Given the description of an element on the screen output the (x, y) to click on. 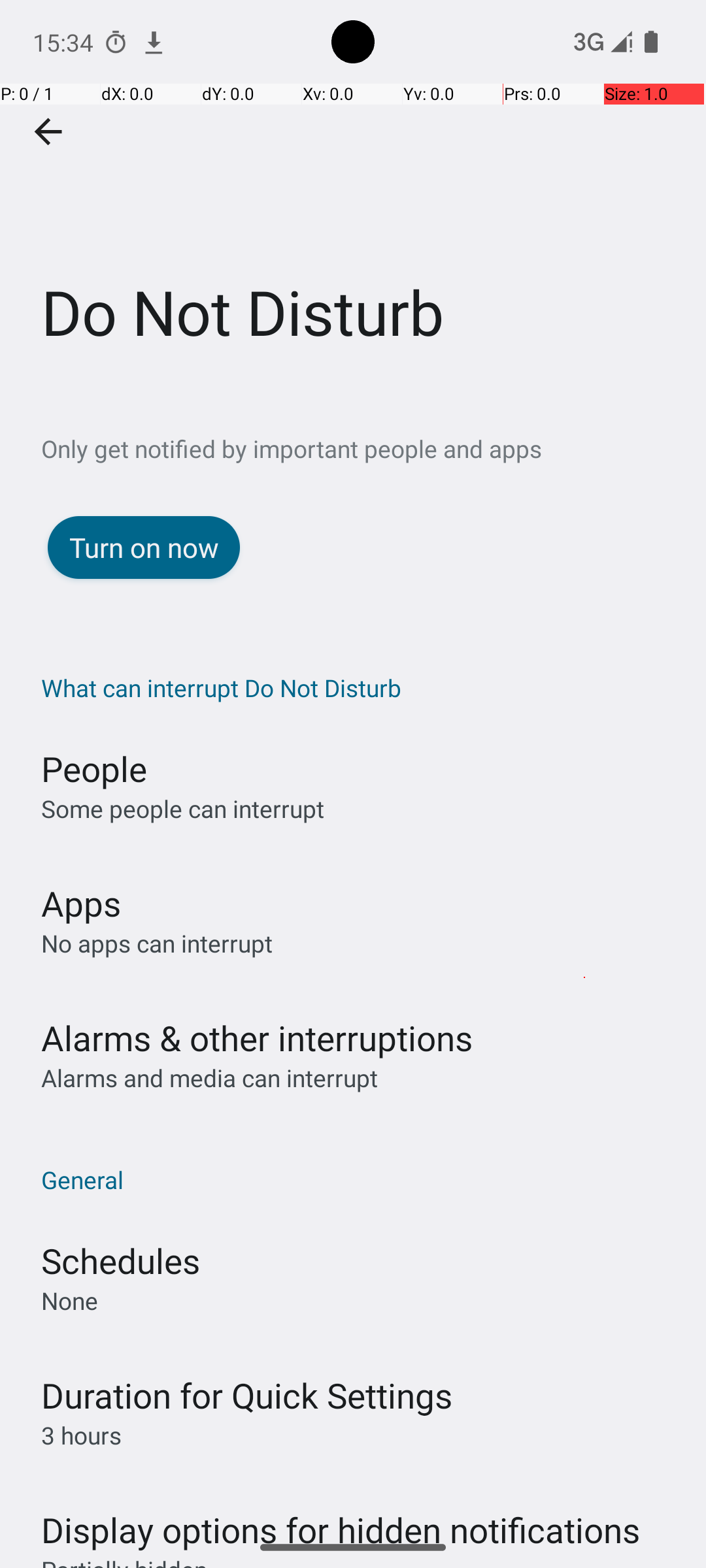
Only get notified by important people and apps Element type: android.widget.TextView (373, 448)
What can interrupt Do Not Disturb Element type: android.widget.TextView (359, 687)
Some people can interrupt Element type: android.widget.TextView (182, 808)
No apps can interrupt Element type: android.widget.TextView (156, 942)
Alarms & other interruptions Element type: android.widget.TextView (256, 1037)
Alarms and media can interrupt Element type: android.widget.TextView (209, 1077)
Duration for Quick Settings Element type: android.widget.TextView (246, 1395)
3 hours Element type: android.widget.TextView (81, 1434)
